Given the description of an element on the screen output the (x, y) to click on. 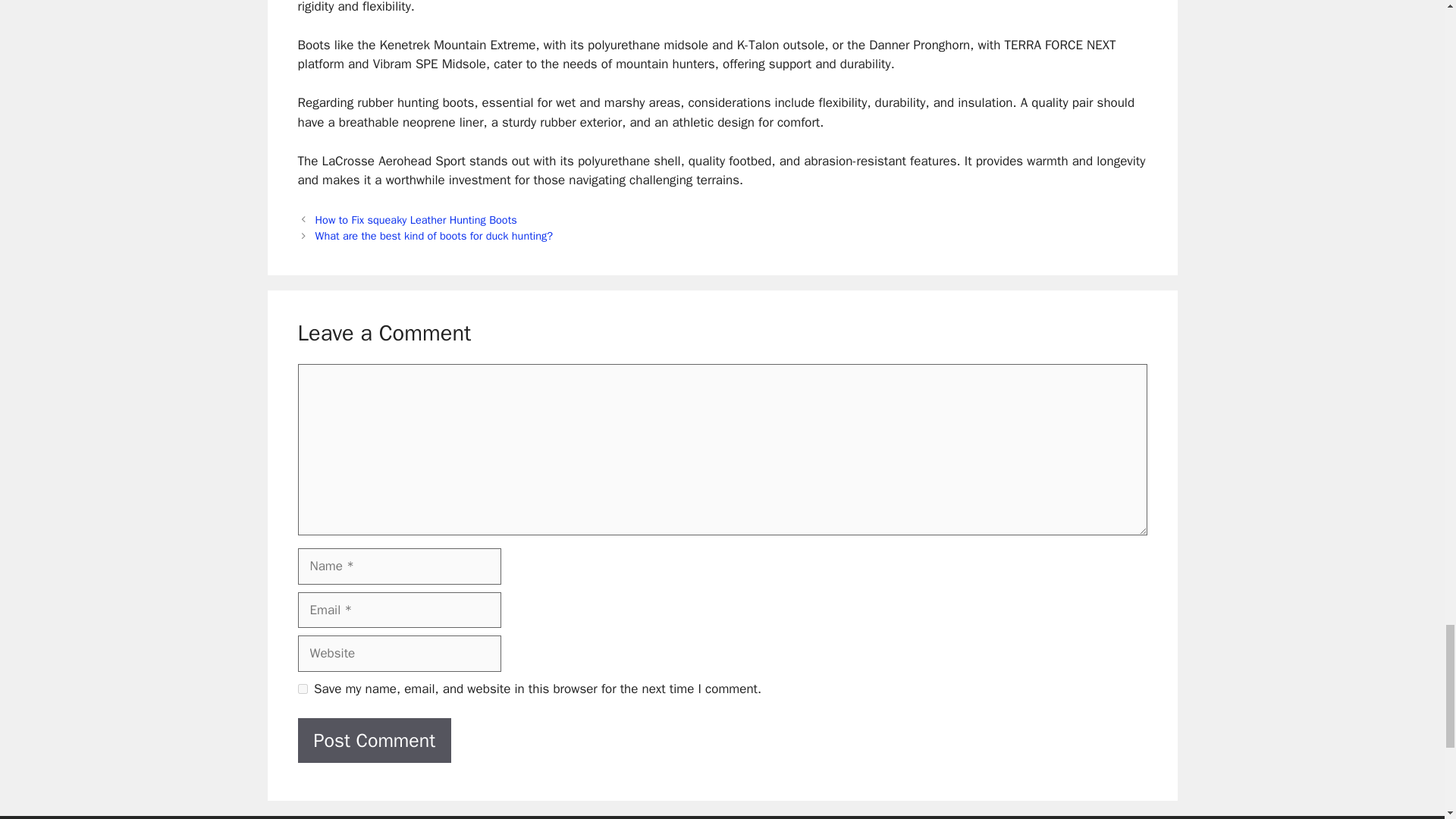
What are the best kind of boots for duck hunting? (434, 235)
How to Fix squeaky Leather Hunting Boots (415, 219)
Post Comment (374, 740)
Post Comment (374, 740)
yes (302, 688)
